Given the description of an element on the screen output the (x, y) to click on. 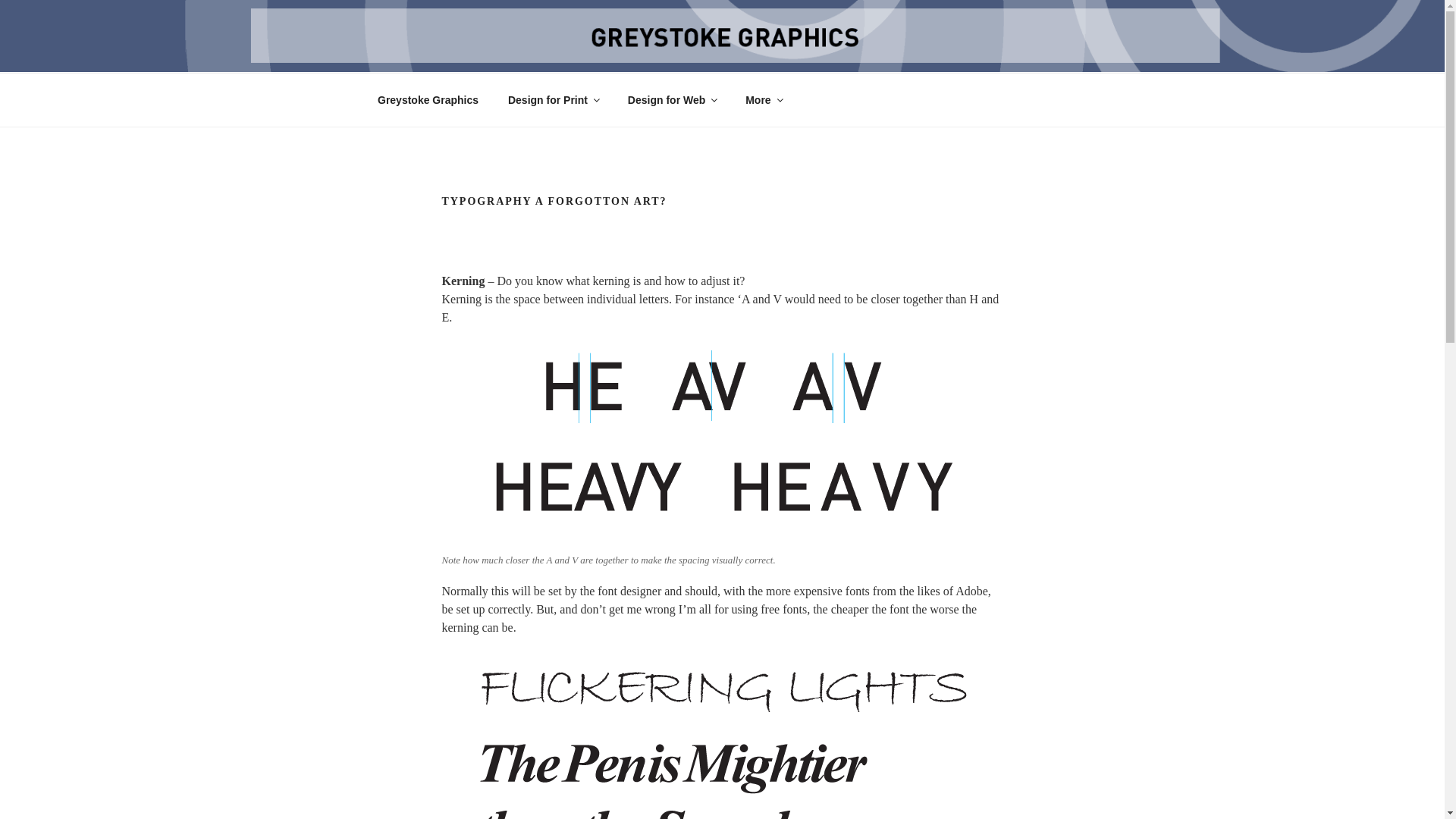
Design for Print (553, 99)
More (763, 99)
Design for Web (671, 99)
GREYSTOKE GRAPHICS (559, 52)
Greystoke Graphics (428, 99)
